Given the description of an element on the screen output the (x, y) to click on. 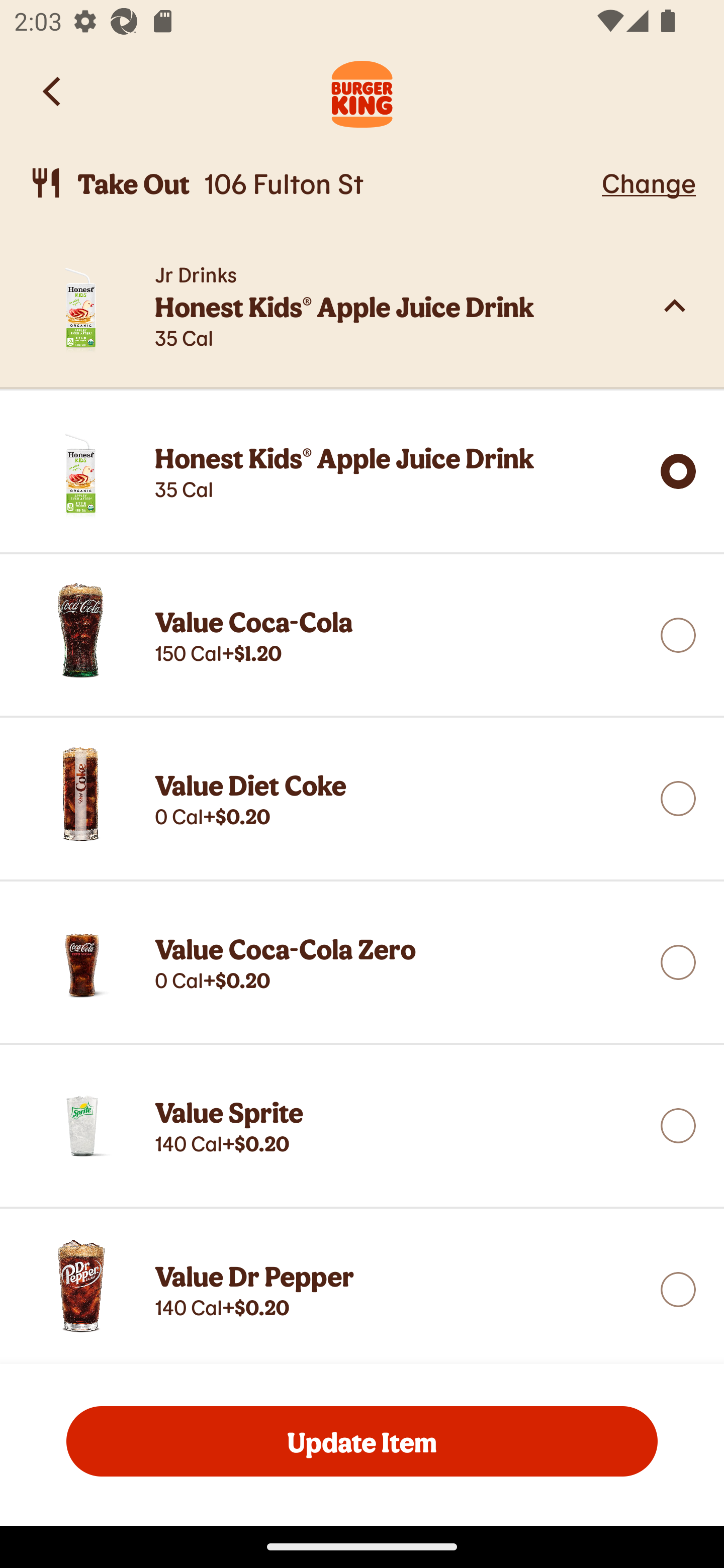
Burger King Logo. Navigate to Home (362, 91)
Back (52, 91)
Take Out, 106 Fulton St  Take Out 106 Fulton St (311, 183)
Change (648, 182)
Update Item (361, 1441)
